Given the description of an element on the screen output the (x, y) to click on. 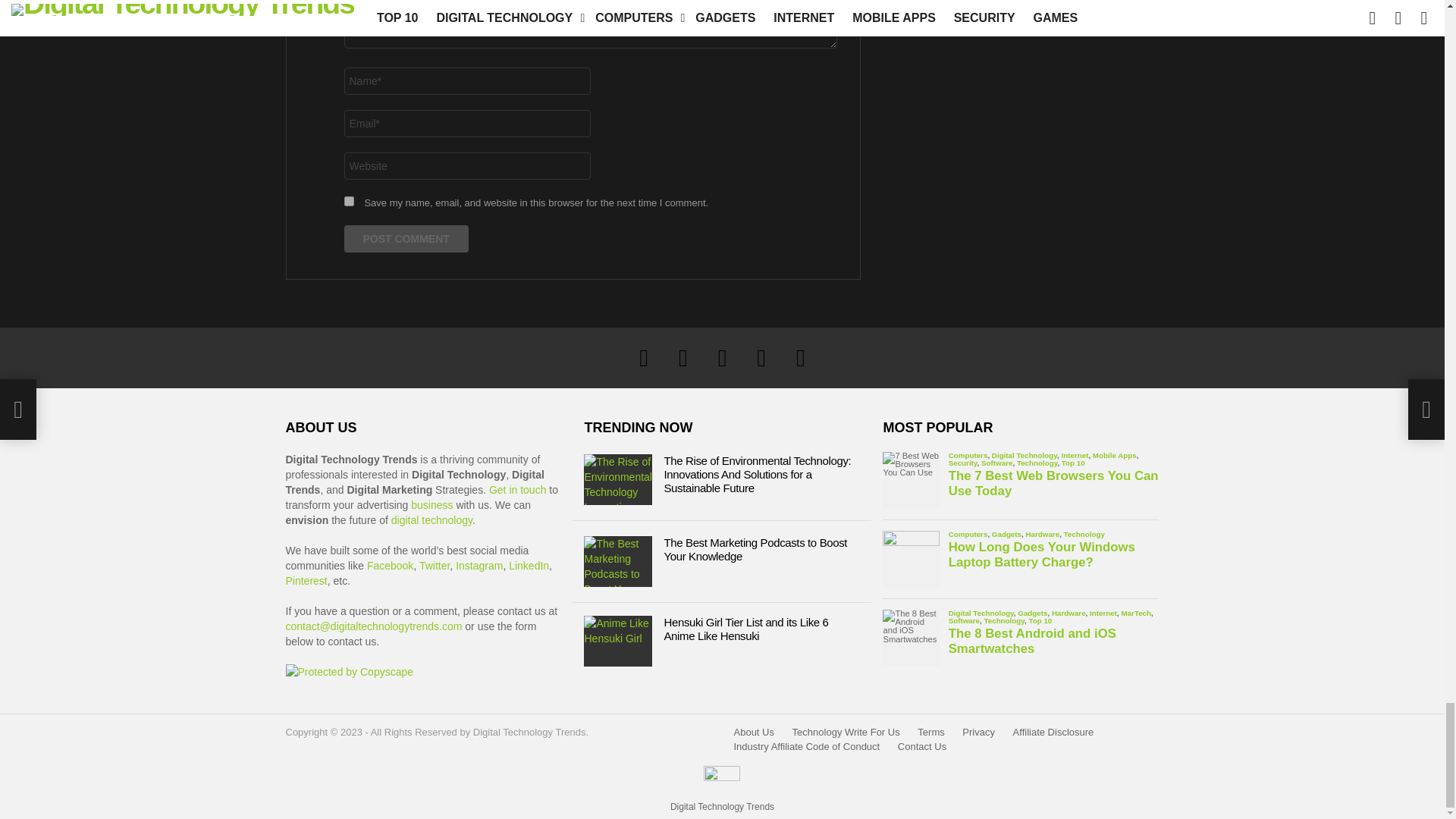
yes (348, 201)
Post Comment (405, 238)
